Given the description of an element on the screen output the (x, y) to click on. 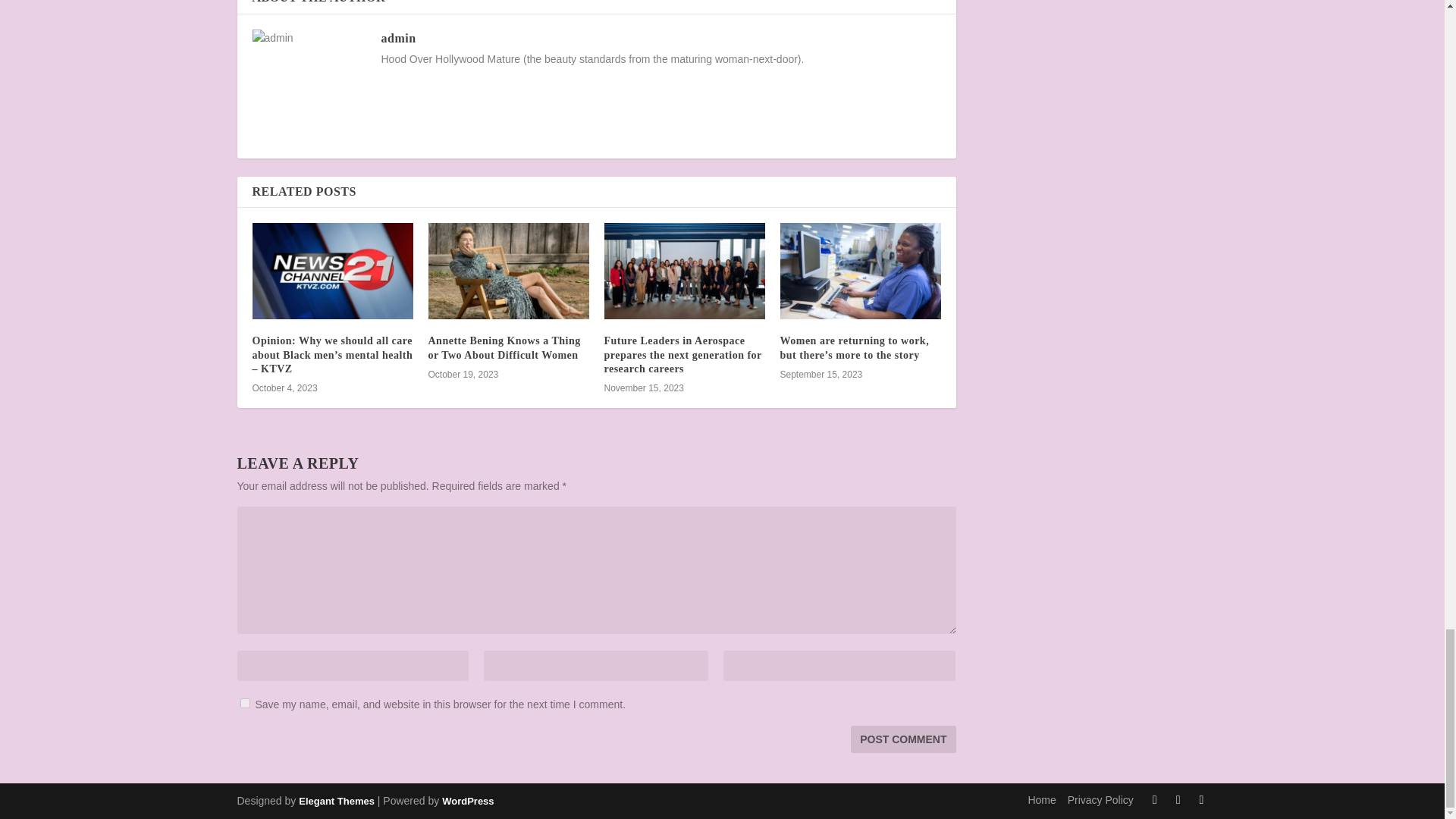
admin (397, 37)
yes (244, 703)
Post Comment (902, 738)
